Given the description of an element on the screen output the (x, y) to click on. 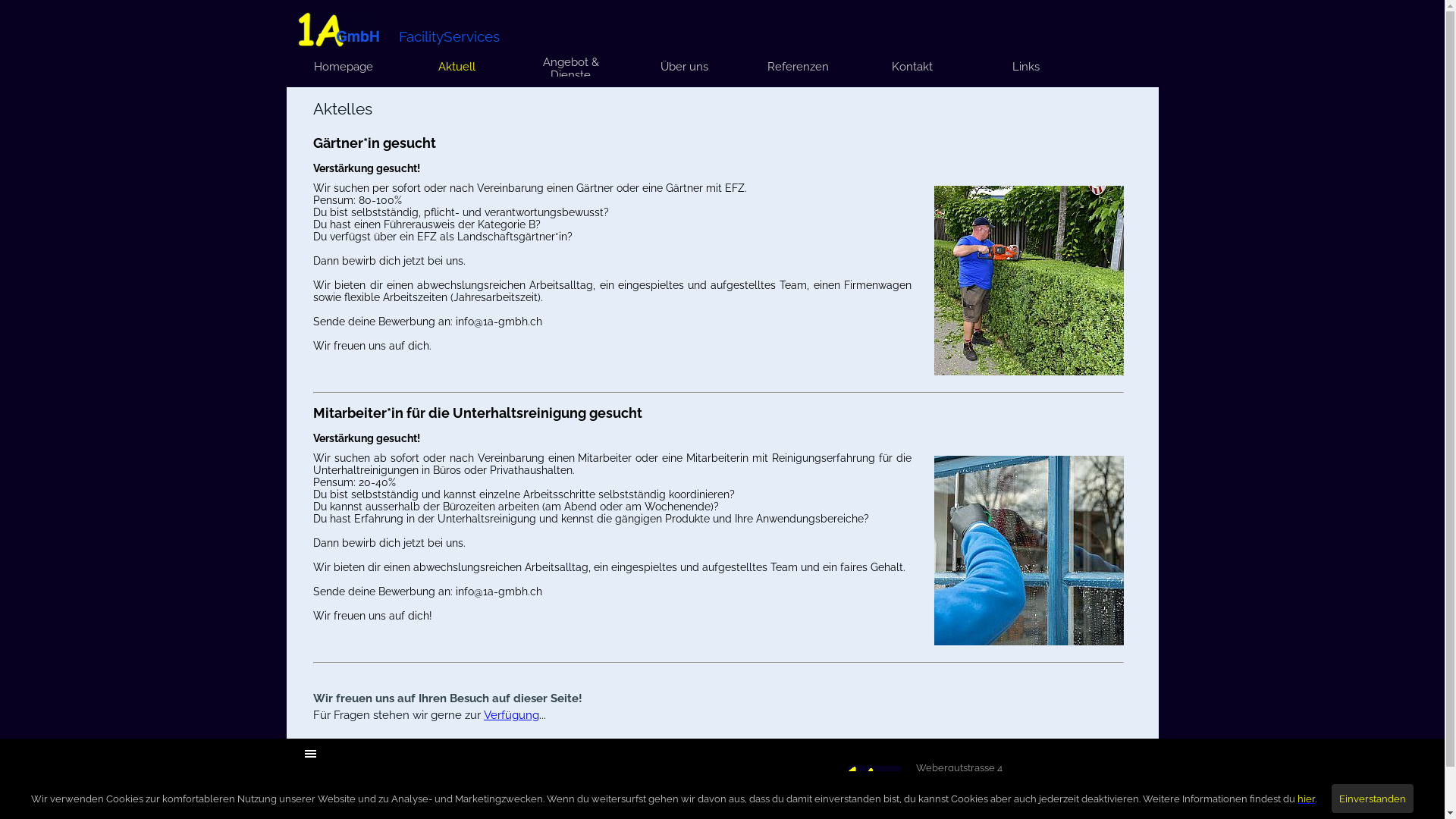
Referenzen Element type: text (798, 65)
Links Element type: text (1025, 65)
Kontakt Element type: text (911, 65)
Powered by MWSdesign Element type: text (475, 791)
Aktuell Element type: text (456, 65)
Homepage Element type: text (343, 65)
1A-GmbH Element type: hover (338, 29)
Angebot & Dienste Element type: text (570, 68)
hier Element type: text (1305, 798)
Disclaimer Element type: text (324, 809)
Impressum Element type: text (324, 792)
